Given the description of an element on the screen output the (x, y) to click on. 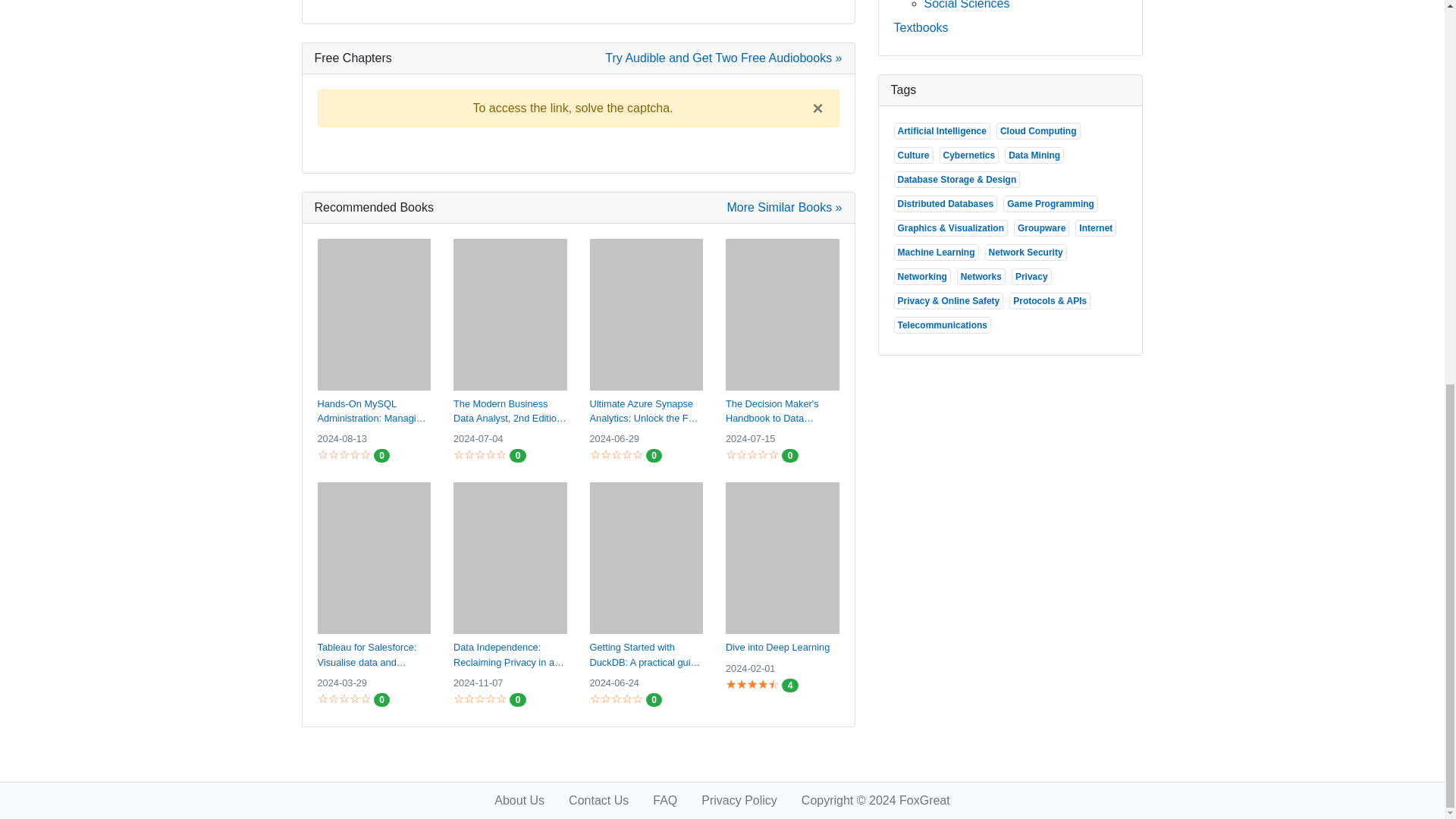
4.5 out of 5 Stars (749, 684)
